Given the description of an element on the screen output the (x, y) to click on. 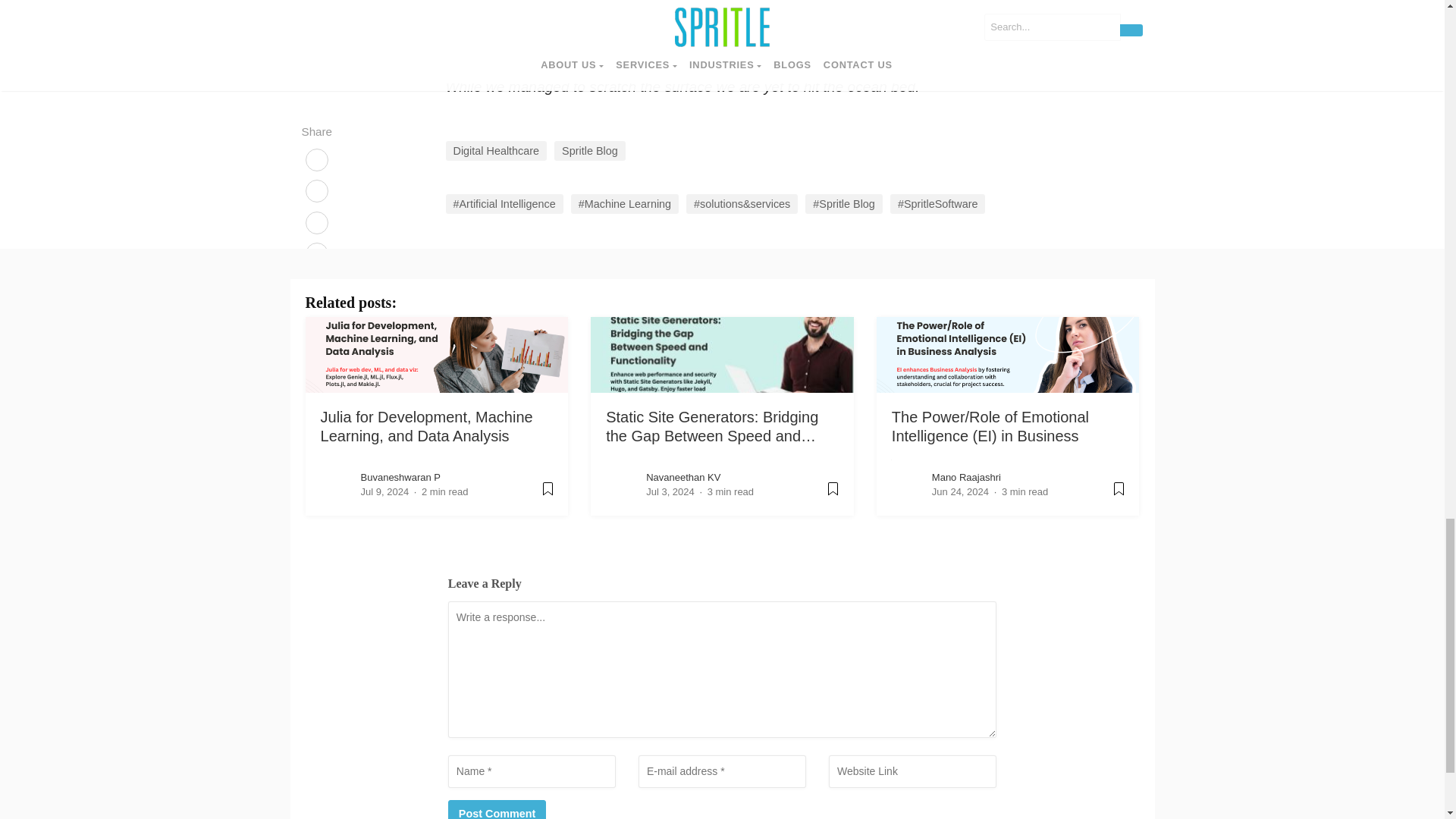
Spritle Blog (590, 150)
Post Comment (497, 809)
Digital Healthcare (496, 150)
